Given the description of an element on the screen output the (x, y) to click on. 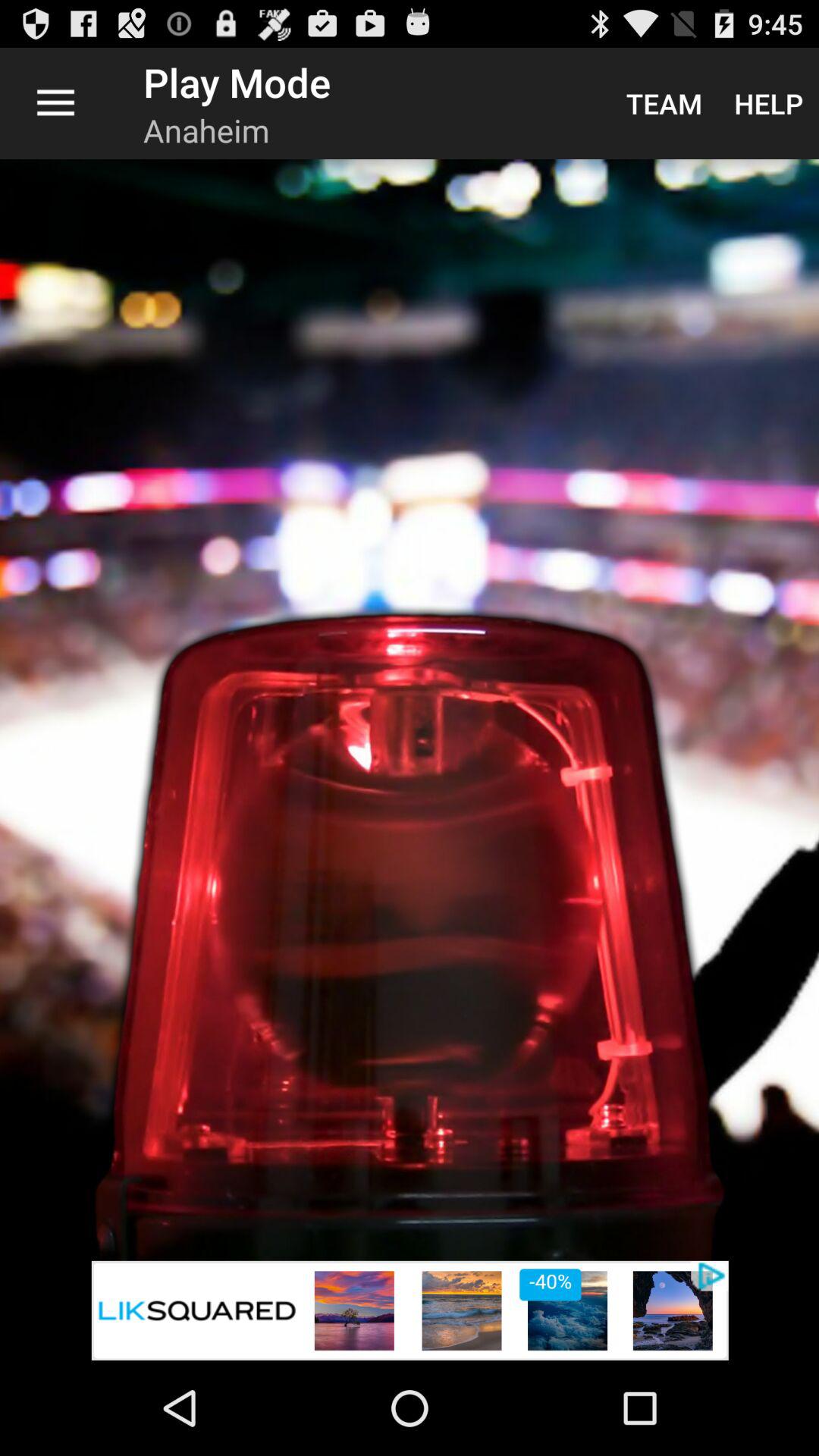
select the item next to help (664, 103)
